Given the description of an element on the screen output the (x, y) to click on. 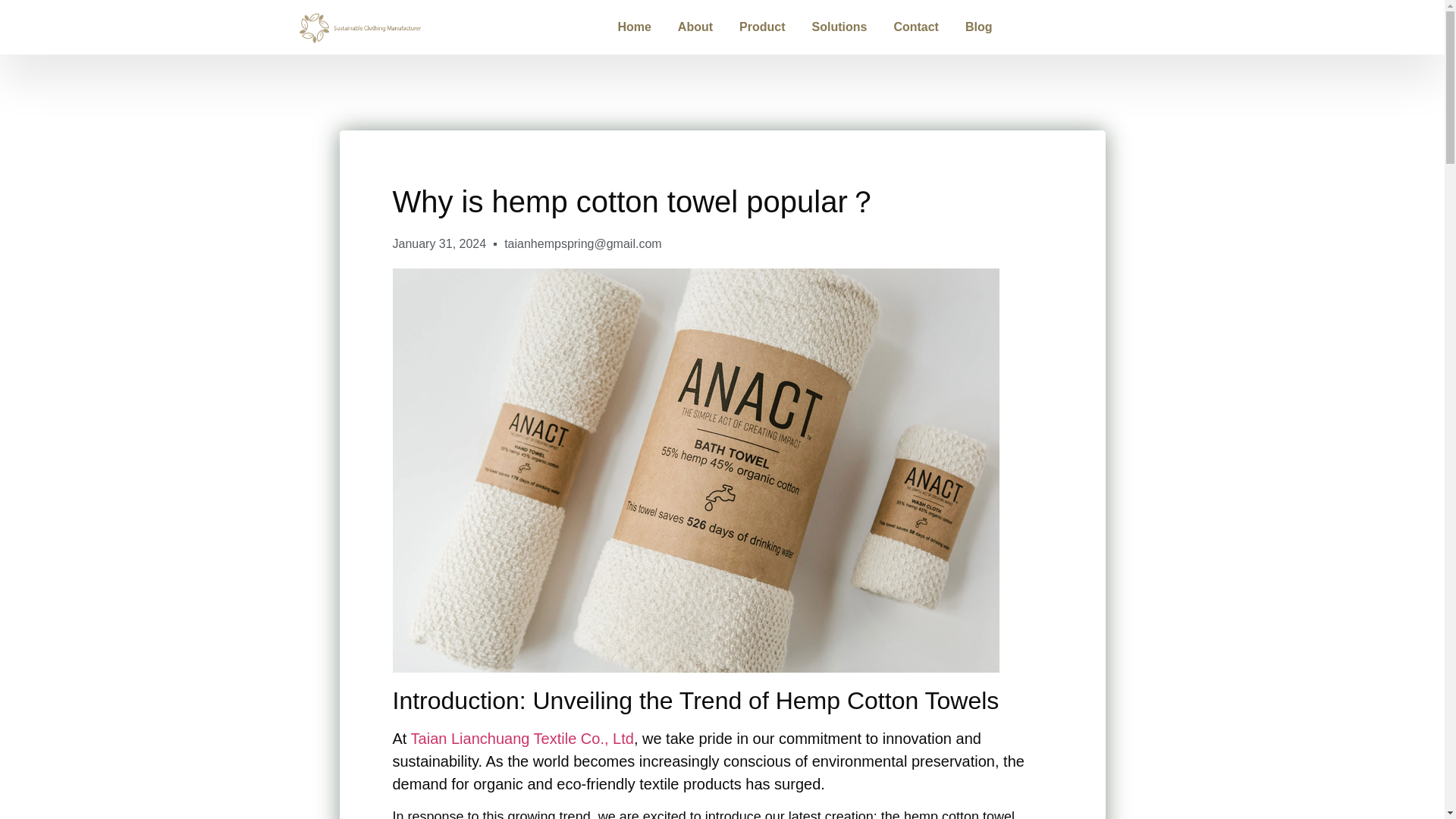
logo-2 (360, 27)
Contact (916, 26)
Solutions (838, 26)
Product (761, 26)
